Given the description of an element on the screen output the (x, y) to click on. 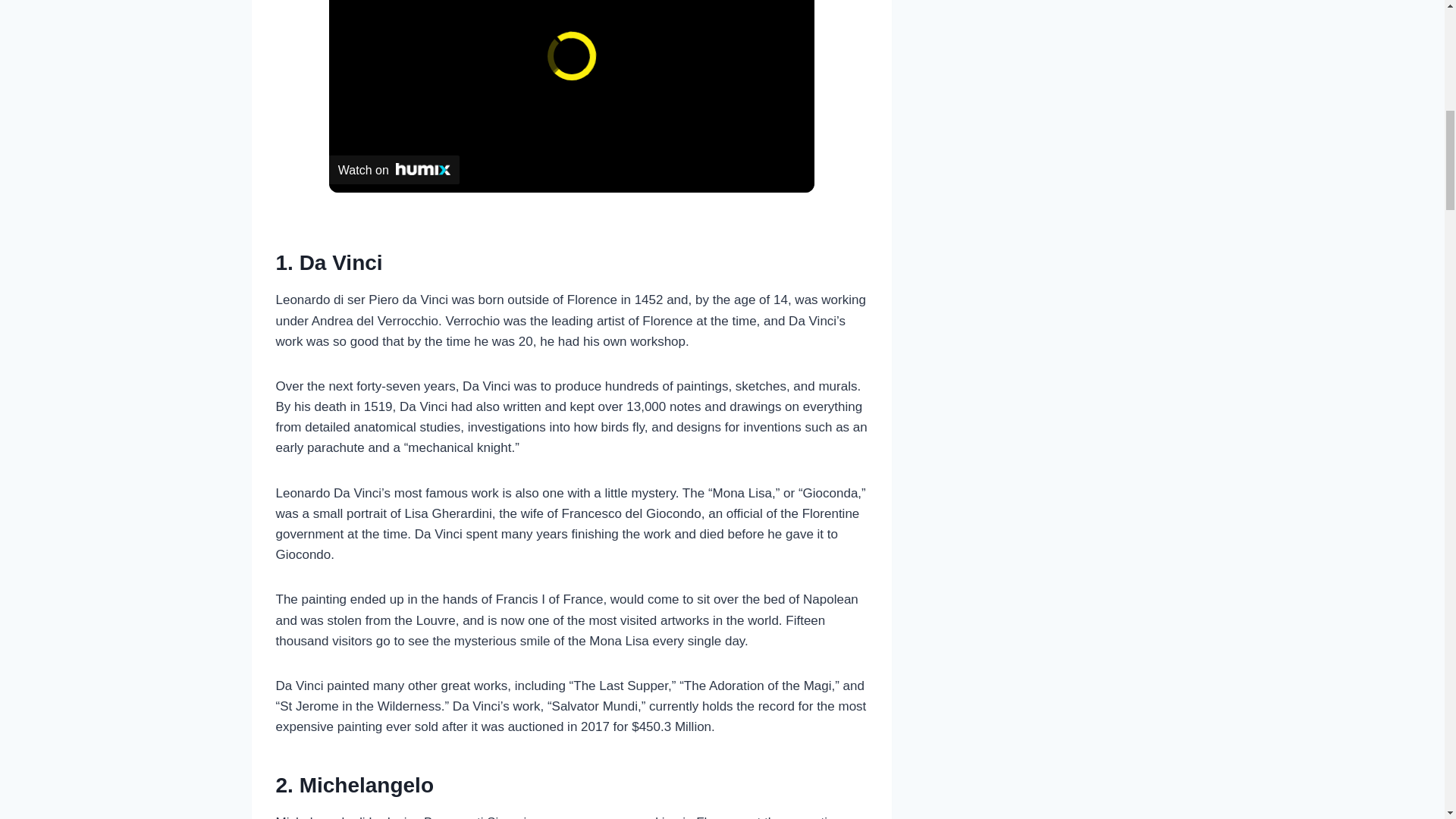
Watch on (394, 169)
